Given the description of an element on the screen output the (x, y) to click on. 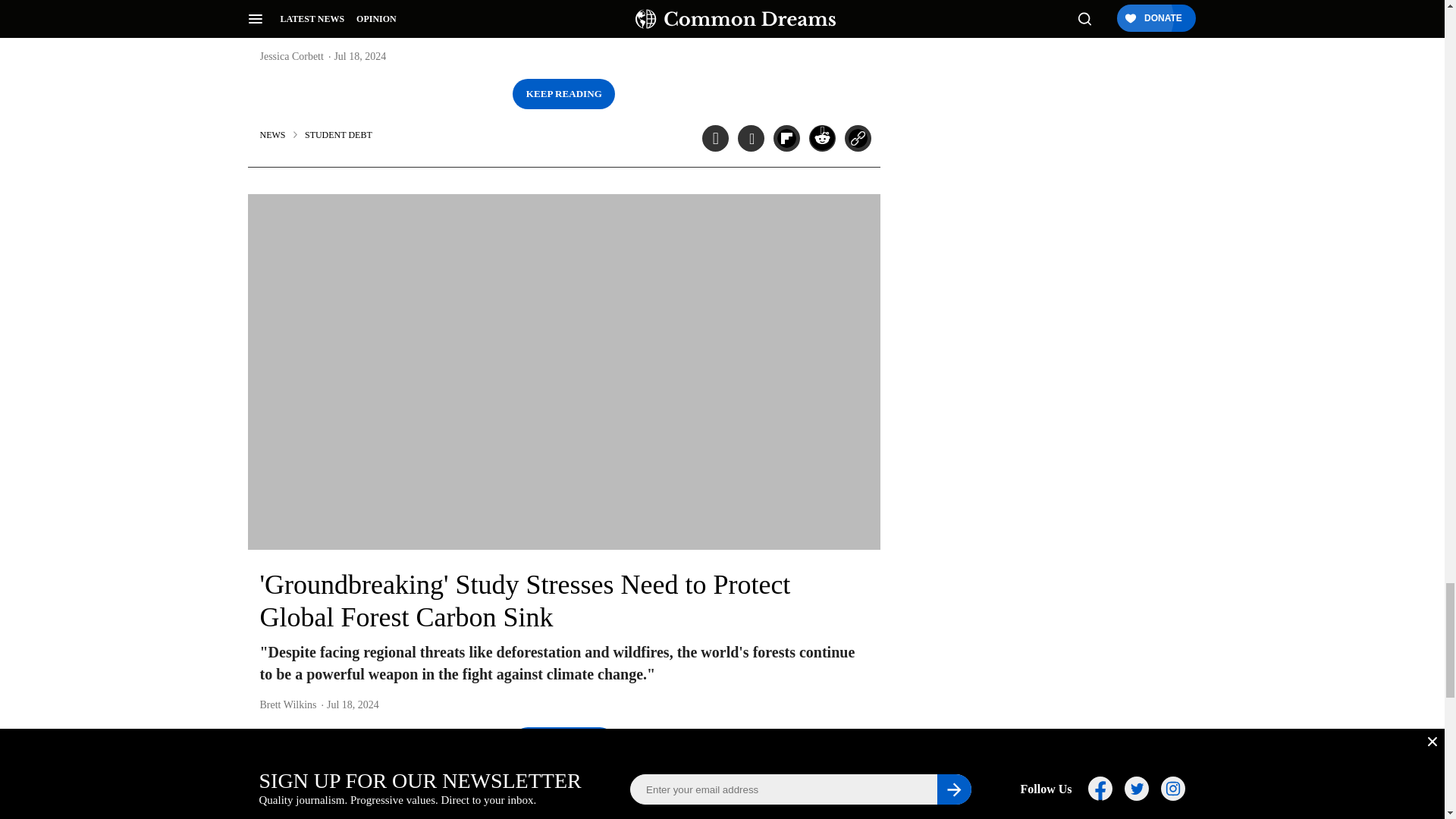
Copy this link to clipboard (857, 138)
Copy this link to clipboard (857, 786)
